Given the description of an element on the screen output the (x, y) to click on. 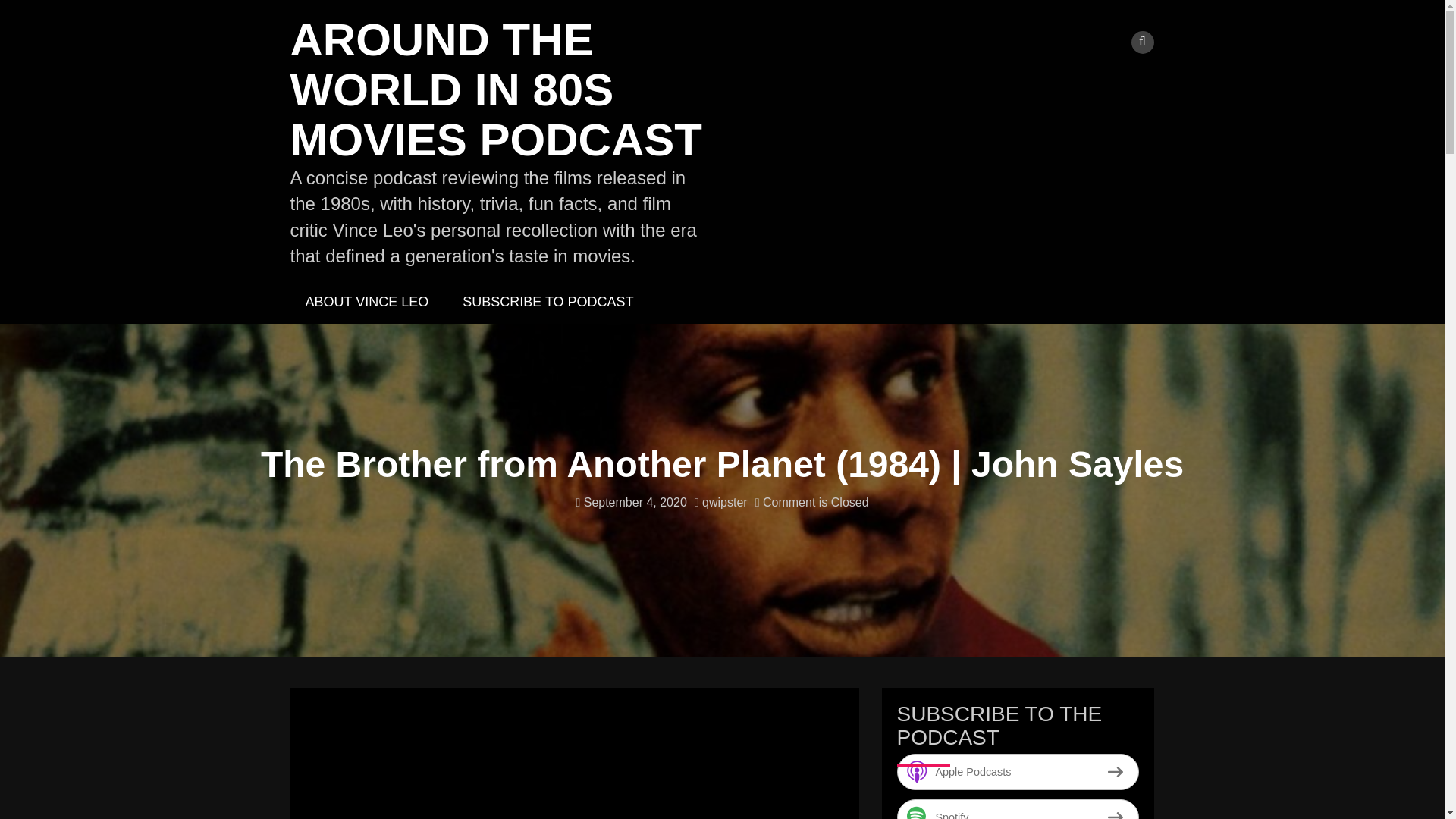
AROUND THE WORLD IN 80S MOVIES PODCAST (495, 89)
Subscribe on Spotify (1017, 809)
Blubrry Podcast Player (573, 760)
qwipster (721, 502)
SUBSCRIBE TO PODCAST (546, 302)
Subscribe on Apple Podcasts (1017, 771)
Apple Podcasts (1017, 771)
ABOUT VINCE LEO (366, 302)
Spotify (1017, 809)
September 4, 2020 (630, 502)
